Given the description of an element on the screen output the (x, y) to click on. 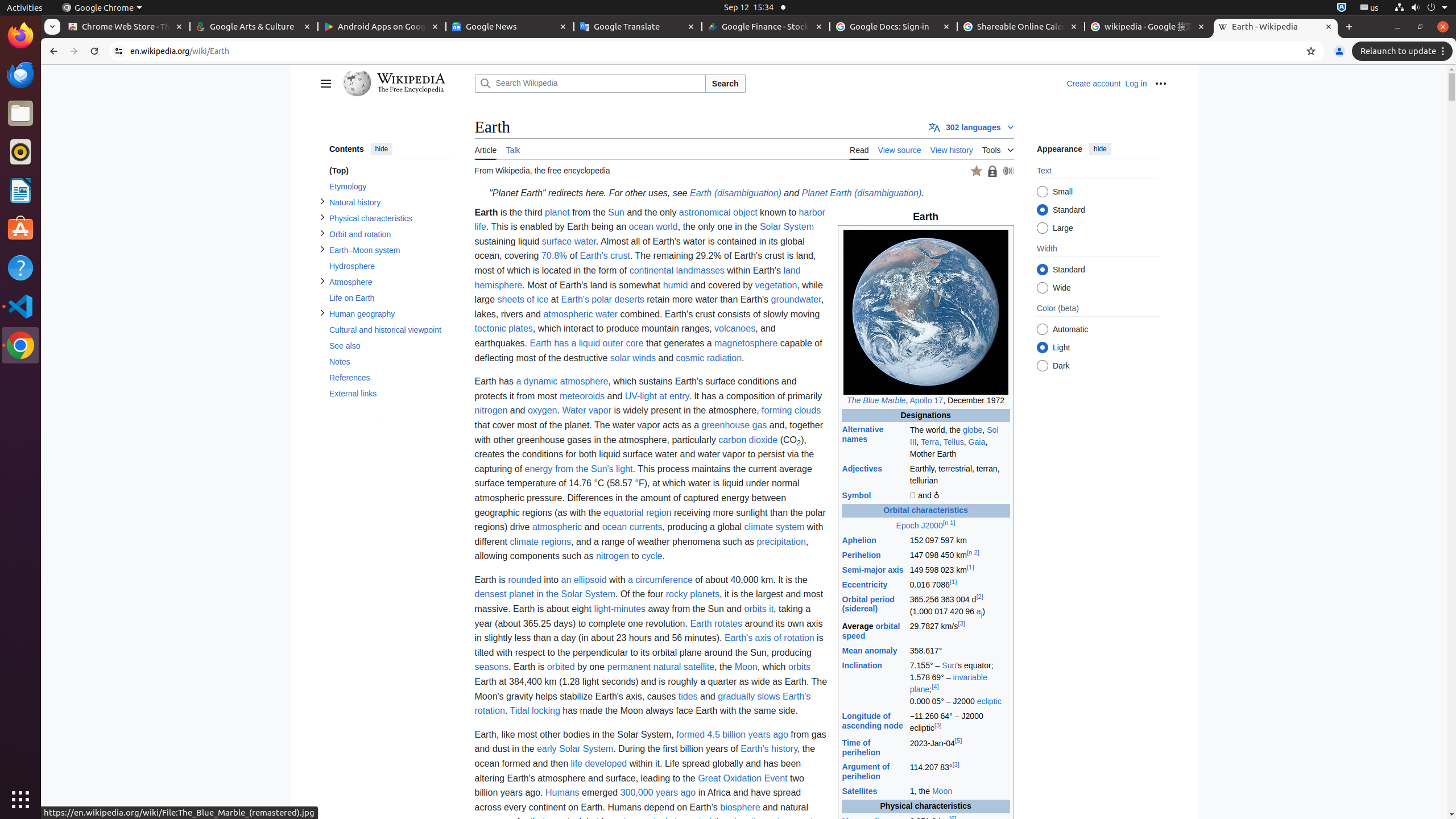
Go to an article in another language. Available in 302 languages Element type: push-button (970, 126)
Orbital characteristics Element type: link (925, 510)
magnetosphere Element type: link (746, 342)
Firefox Web Browser Element type: push-button (20, 35)
forming clouds Element type: link (791, 410)
